Given the description of an element on the screen output the (x, y) to click on. 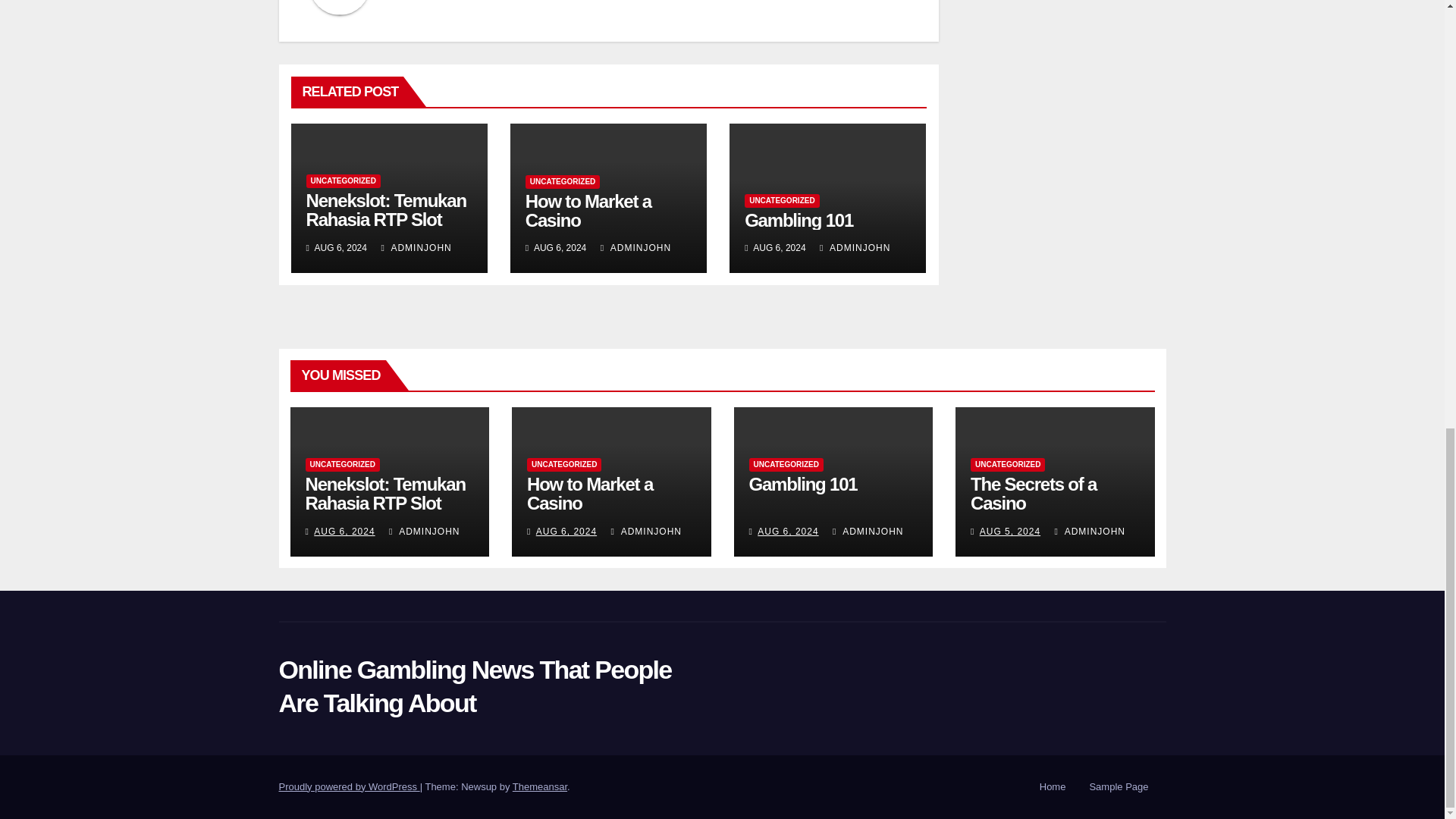
UNCATEGORIZED (342, 181)
Permalink to: The Secrets of a Casino (1033, 493)
Home (1052, 786)
UNCATEGORIZED (562, 182)
Permalink to: How to Market a Casino (587, 210)
ADMINJOHN (415, 247)
Permalink to: Gambling 101 (803, 484)
How to Market a Casino (587, 210)
Gambling 101 (798, 219)
ADMINJOHN (854, 247)
ADMINJOHN (635, 247)
Permalink to: How to Market a Casino (589, 493)
Permalink to: Gambling 101 (798, 219)
